Given the description of an element on the screen output the (x, y) to click on. 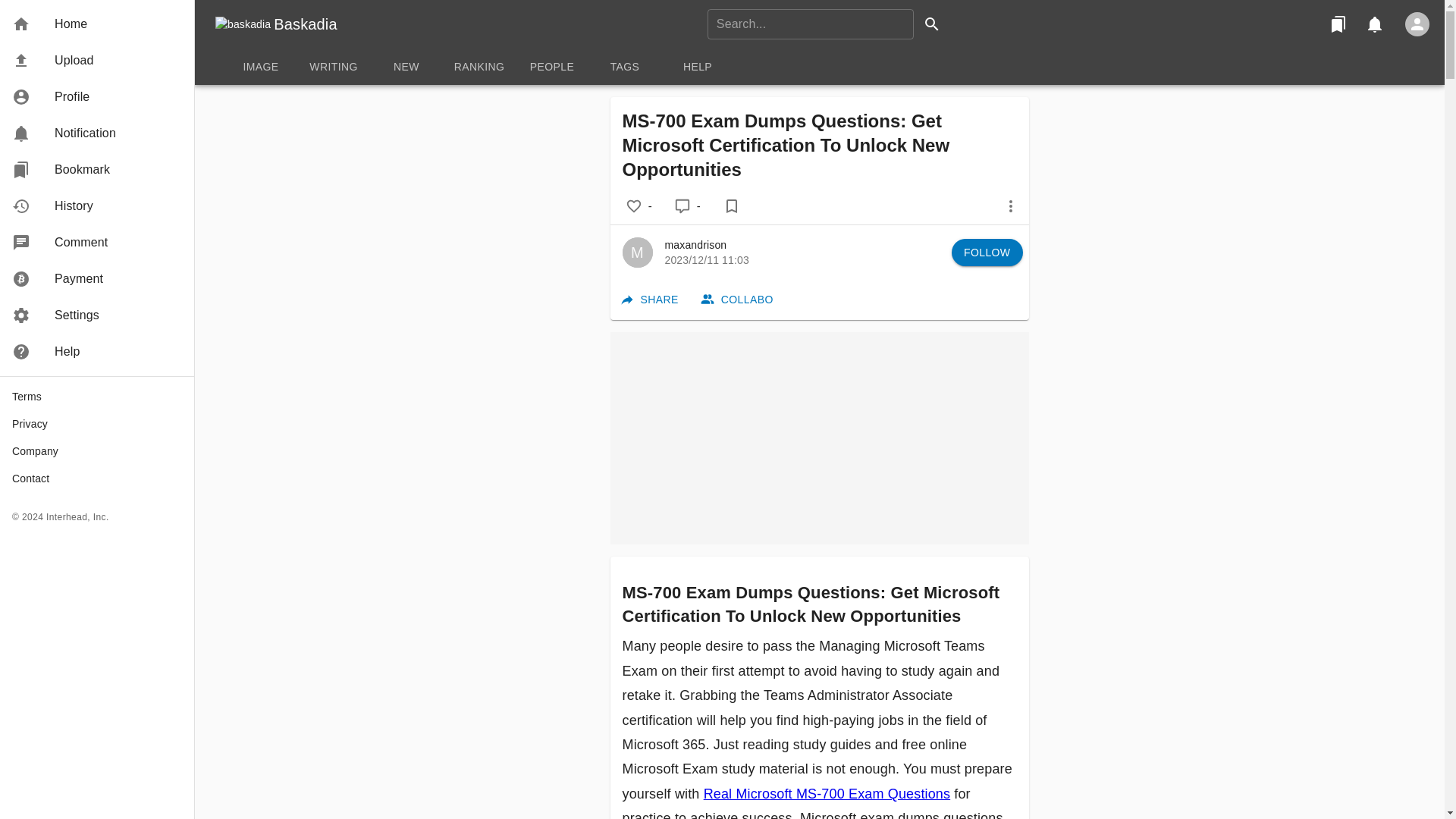
Bookmark (96, 169)
Company (96, 451)
Baskadia (304, 23)
Privacy (96, 423)
Bookmark (730, 206)
Contact (96, 478)
Search (931, 24)
Comment (682, 206)
Home (818, 66)
Like (96, 23)
Comment (634, 206)
Profile (96, 133)
Notification (96, 242)
